Given the description of an element on the screen output the (x, y) to click on. 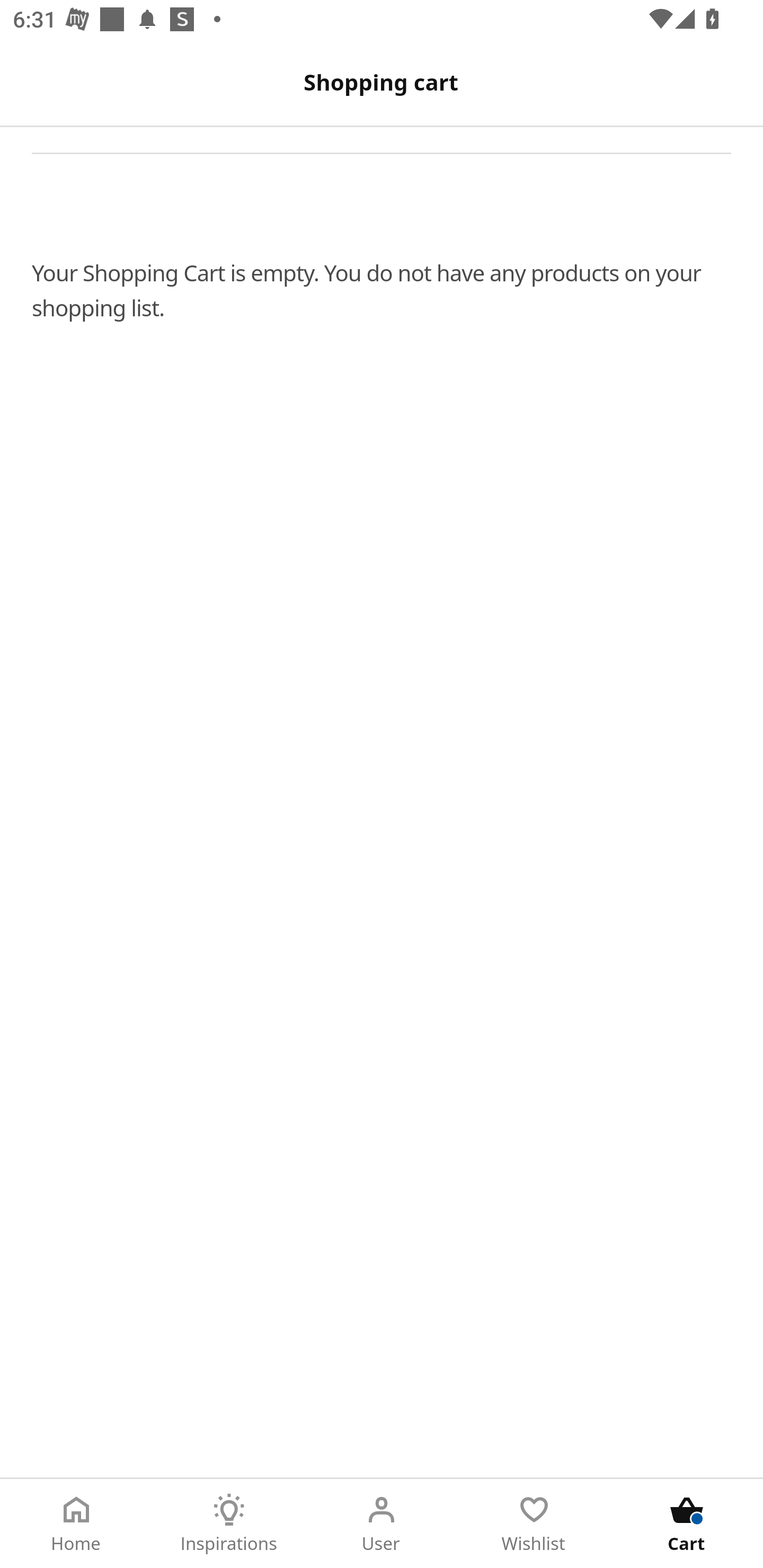
Home
Tab 1 of 5 (76, 1522)
Inspirations
Tab 2 of 5 (228, 1522)
User
Tab 3 of 5 (381, 1522)
Wishlist
Tab 4 of 5 (533, 1522)
Cart
Tab 5 of 5 (686, 1522)
